Given the description of an element on the screen output the (x, y) to click on. 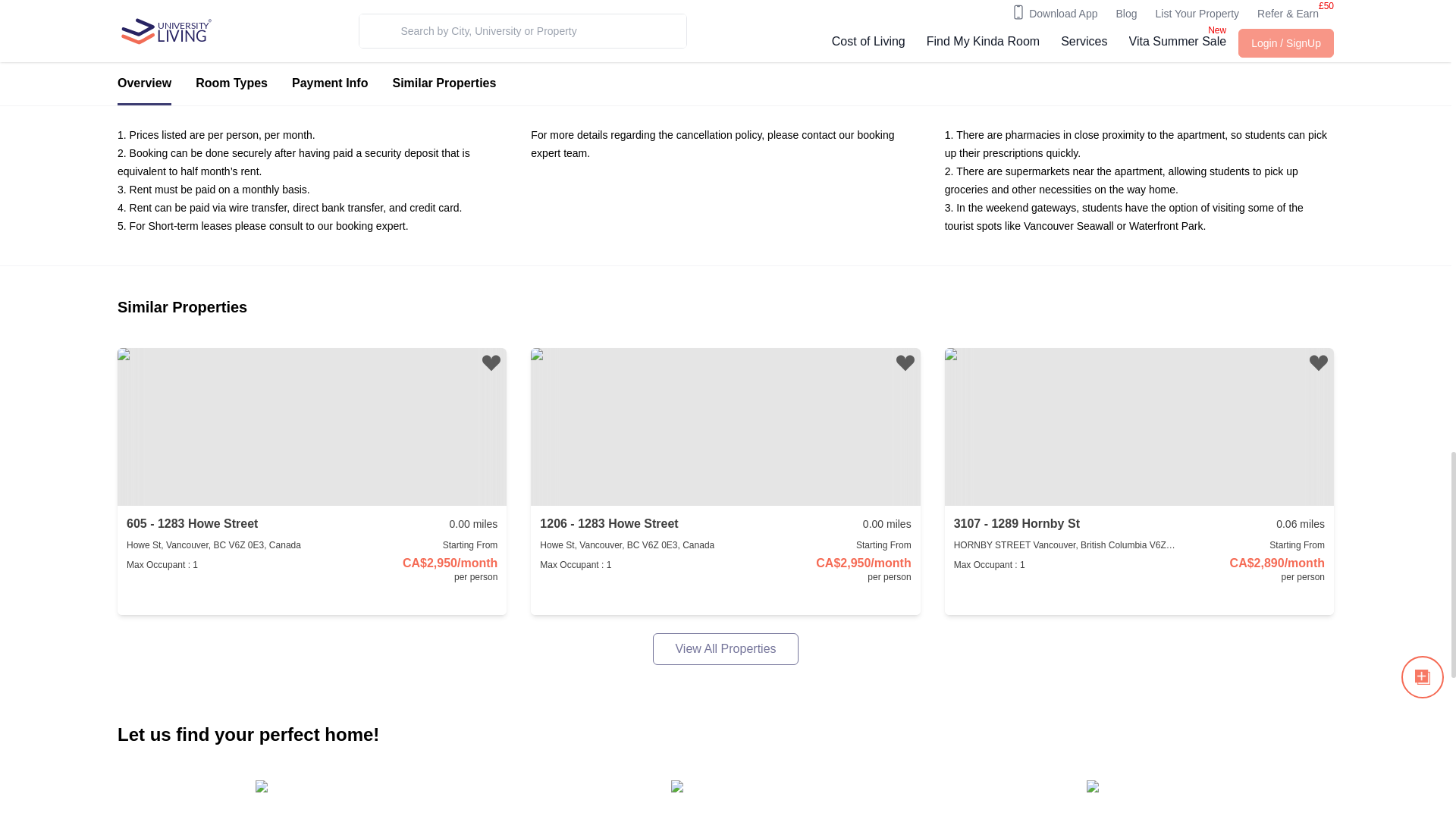
1206 - 1283 Howe Street (609, 524)
605 - 1283 Howe Street (191, 524)
3107 - 1289 Hornby St (1016, 524)
605 - 1283 Howe Street (191, 524)
1206 - 1283 Howe Street (609, 524)
